Given the description of an element on the screen output the (x, y) to click on. 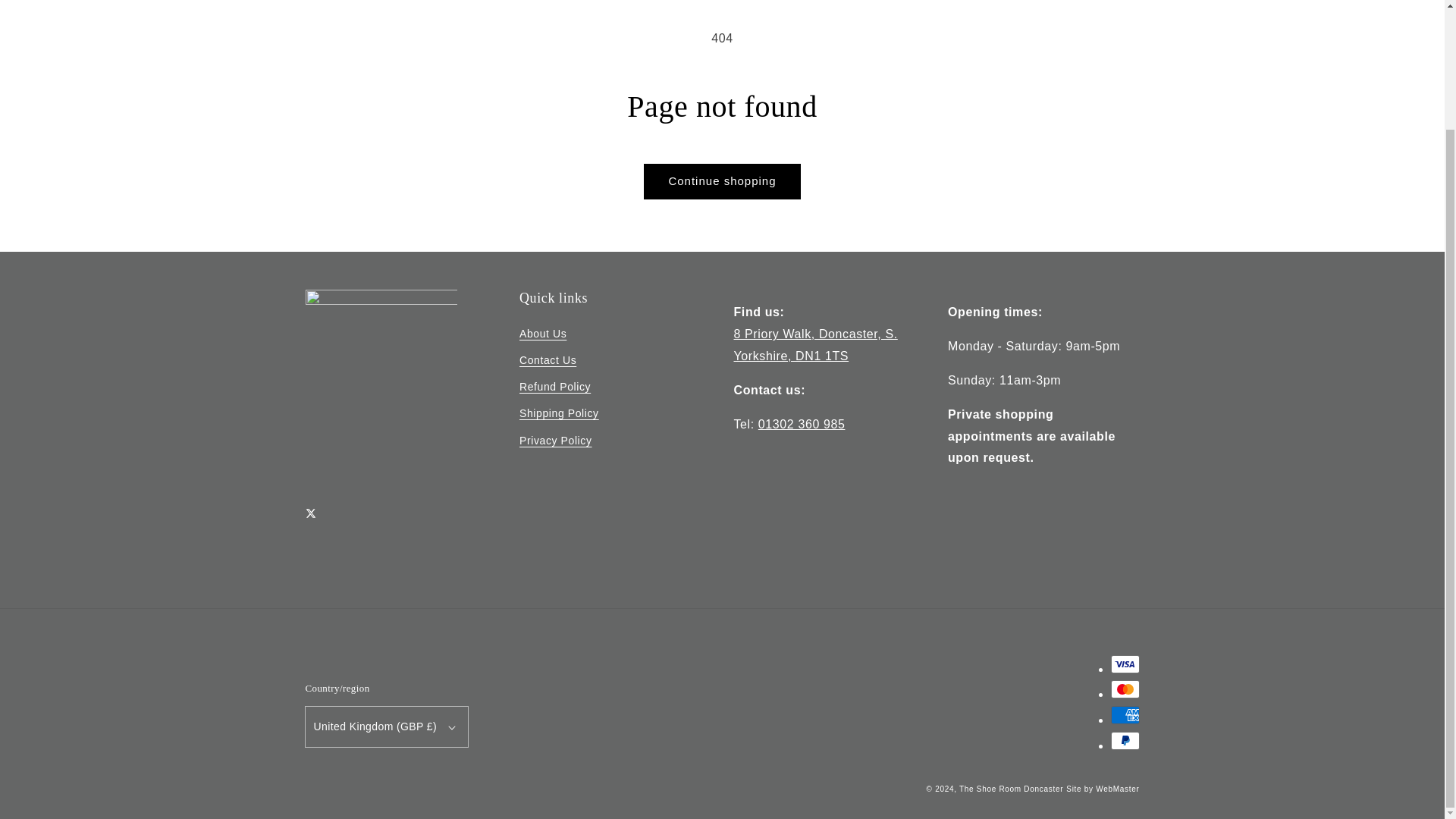
Mastercard (1123, 689)
Visa (1123, 664)
American Express (1123, 714)
PayPal (1123, 741)
tel:01302360985 (801, 423)
